Given the description of an element on the screen output the (x, y) to click on. 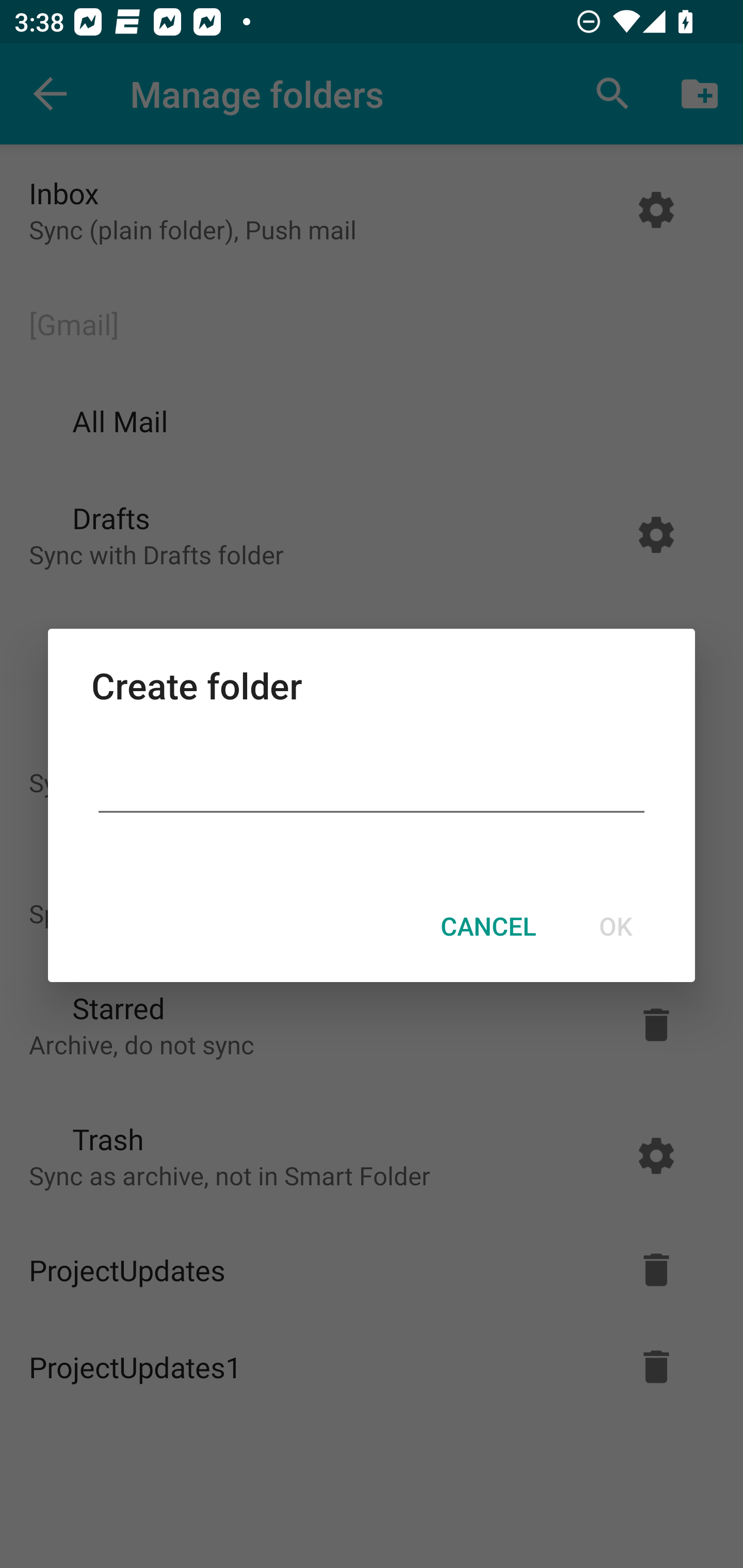
CANCEL (488, 926)
OK (615, 926)
